Given the description of an element on the screen output the (x, y) to click on. 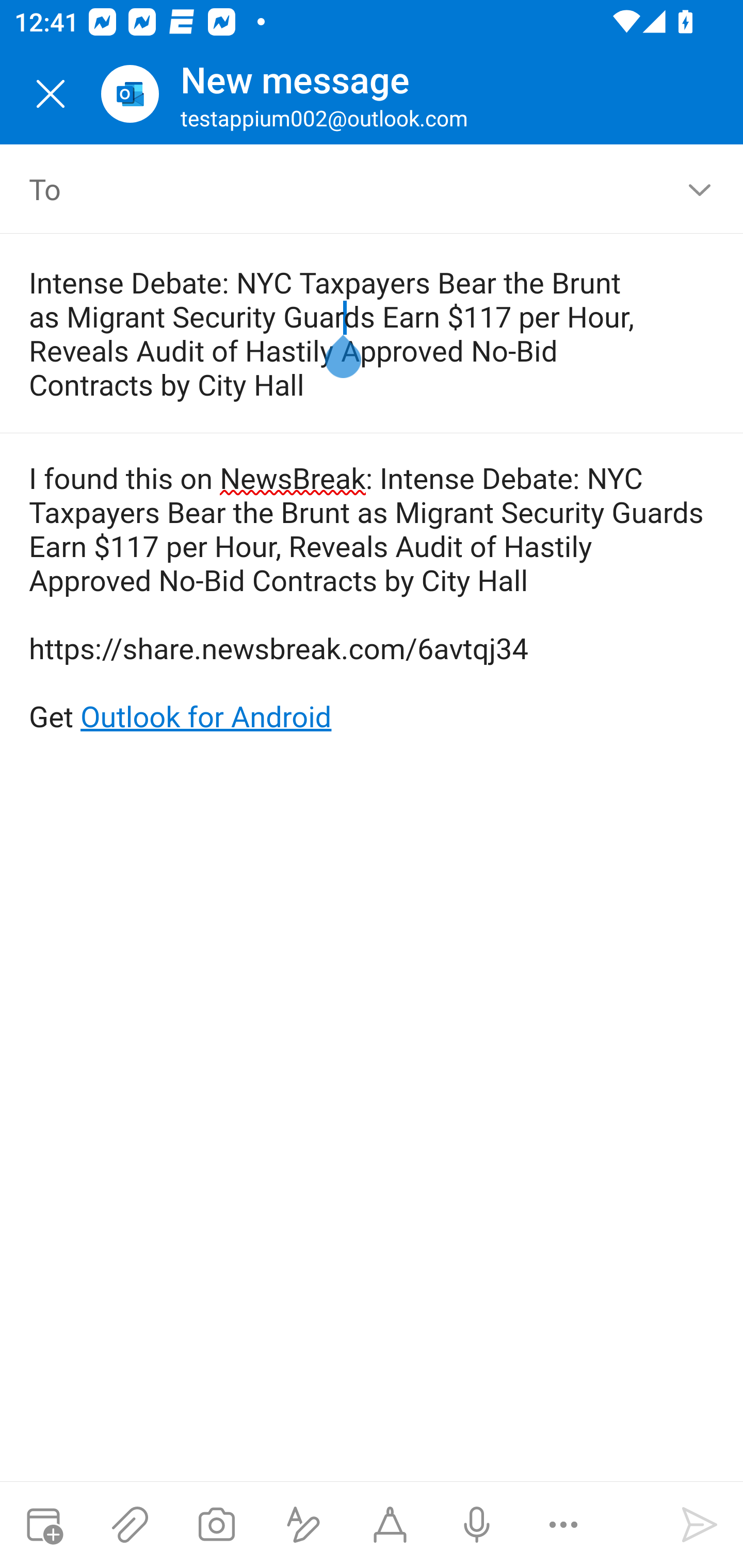
Close (50, 93)
Attach meeting (43, 1524)
Attach files (129, 1524)
Take a photo (216, 1524)
Show formatting options (303, 1524)
Start Ink compose (389, 1524)
Dictation (476, 1524)
More options (563, 1524)
Send (699, 1524)
